Given the description of an element on the screen output the (x, y) to click on. 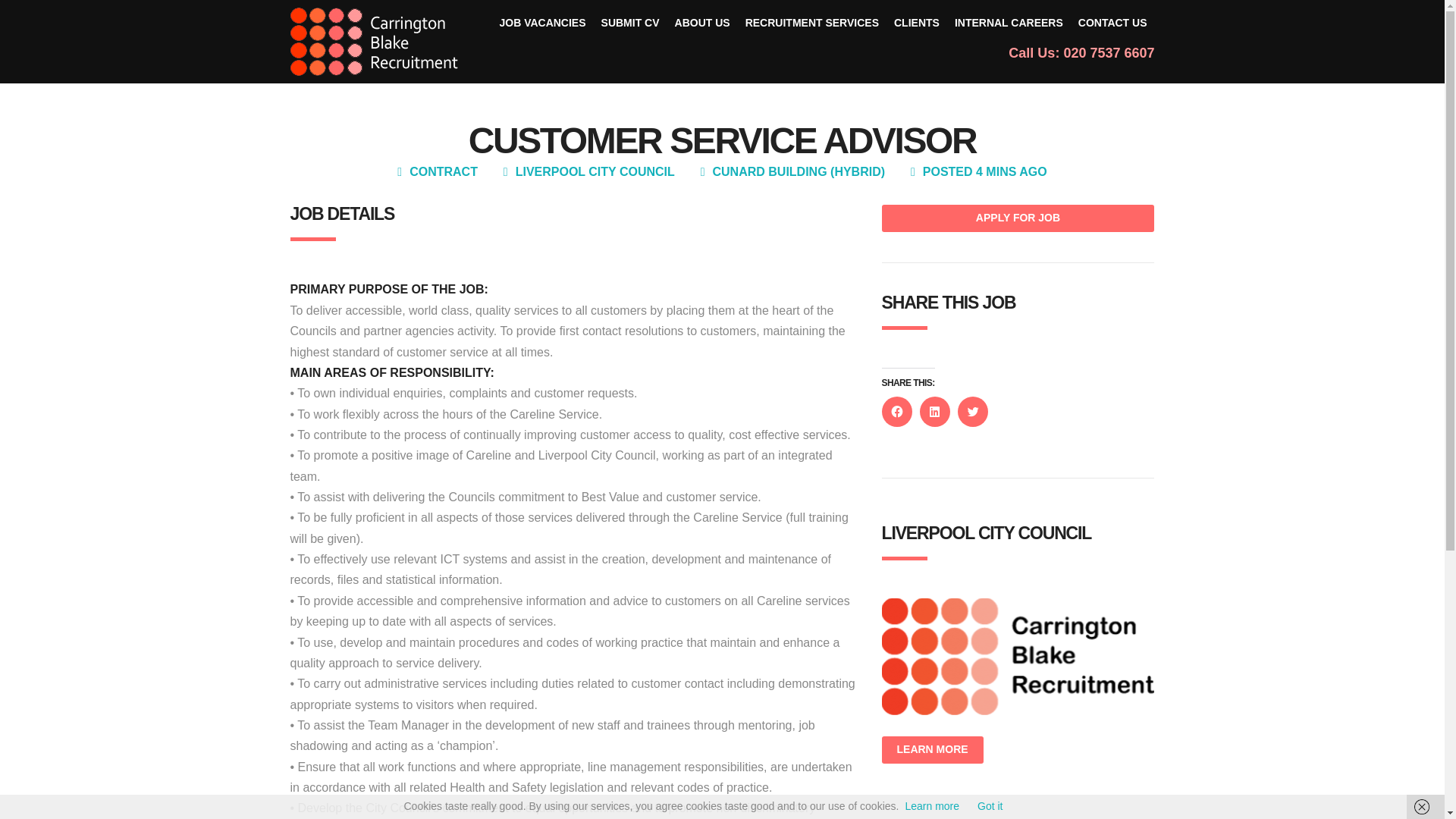
CLIENTS (916, 22)
Apply for job (1017, 217)
LIVERPOOL CITY COUNCIL (595, 171)
ABOUT US (702, 22)
Click to share on Facebook (895, 411)
Click to share on LinkedIn (933, 411)
RECRUITMENT SERVICES (812, 22)
INTERNAL CAREERS (1008, 22)
CONTACT US (1112, 22)
JOB VACANCIES (542, 22)
SUBMIT CV (630, 22)
Click to share on Twitter (971, 411)
LEARN MORE (931, 749)
